Given the description of an element on the screen output the (x, y) to click on. 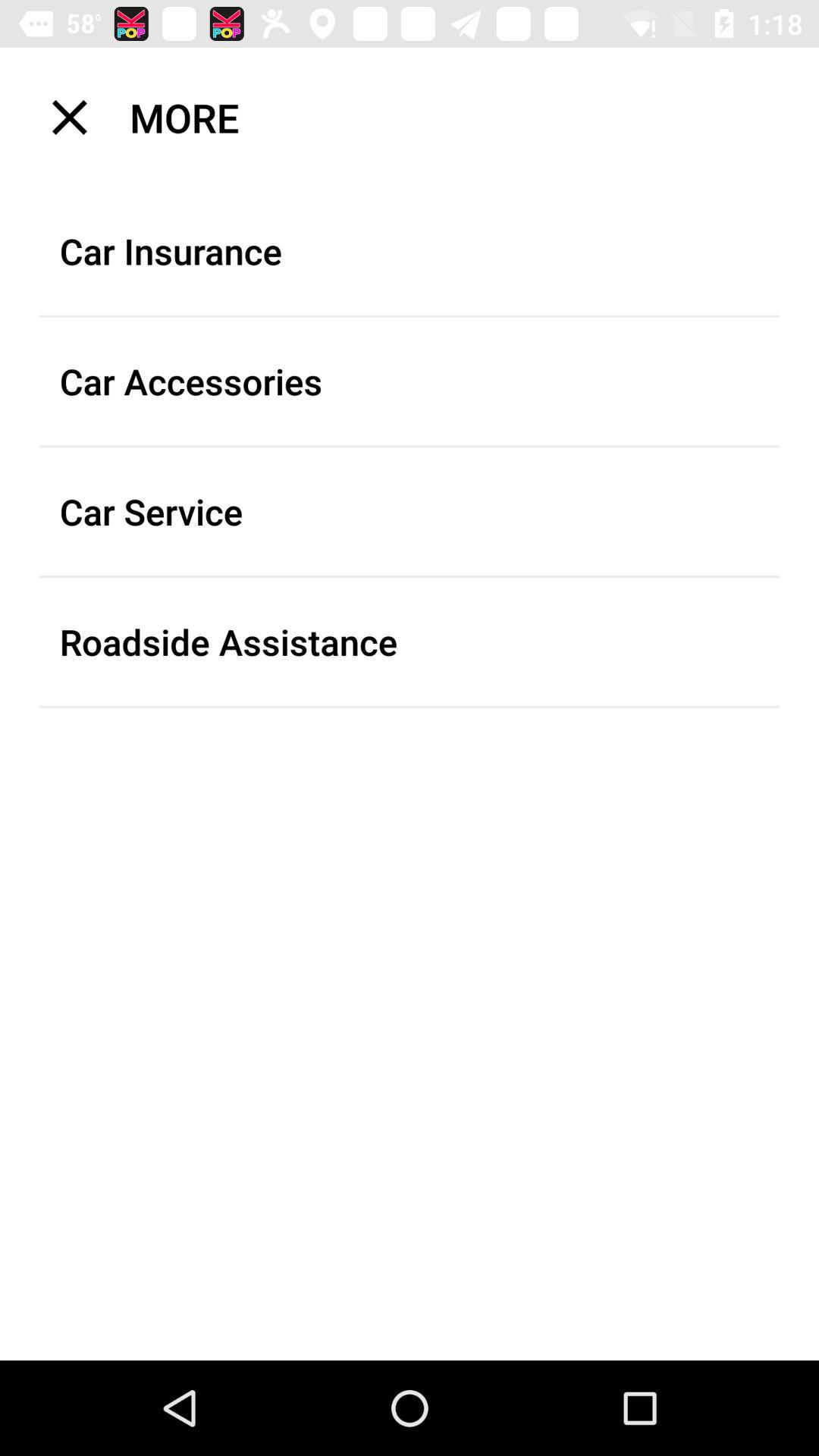
press the car accessories item (409, 381)
